Given the description of an element on the screen output the (x, y) to click on. 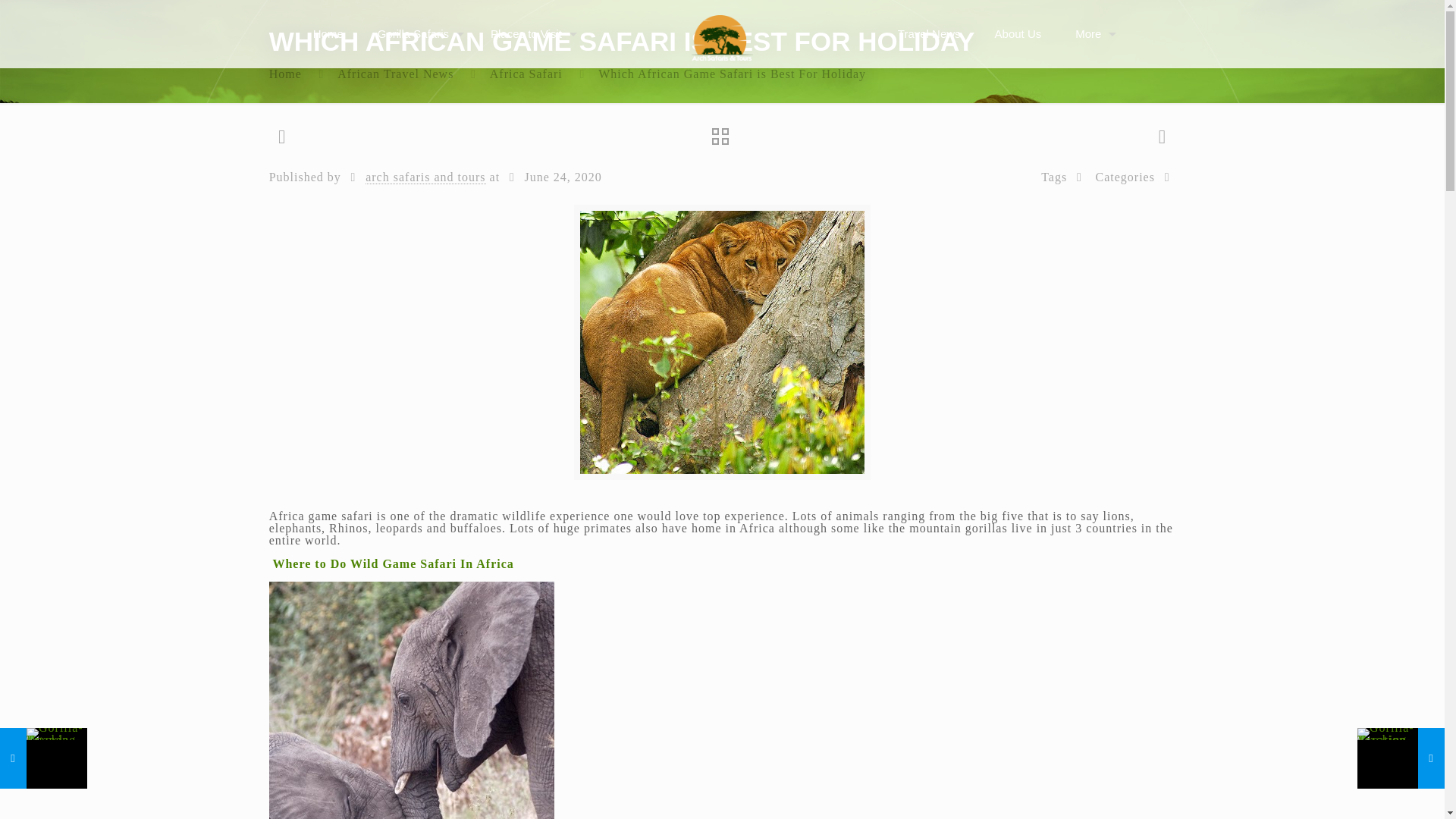
Gorilla Safaris (416, 33)
More (1091, 33)
About Us (1018, 33)
Arch Safaris and Tours (721, 33)
Places to Visit (530, 33)
Travel News (928, 33)
